Given the description of an element on the screen output the (x, y) to click on. 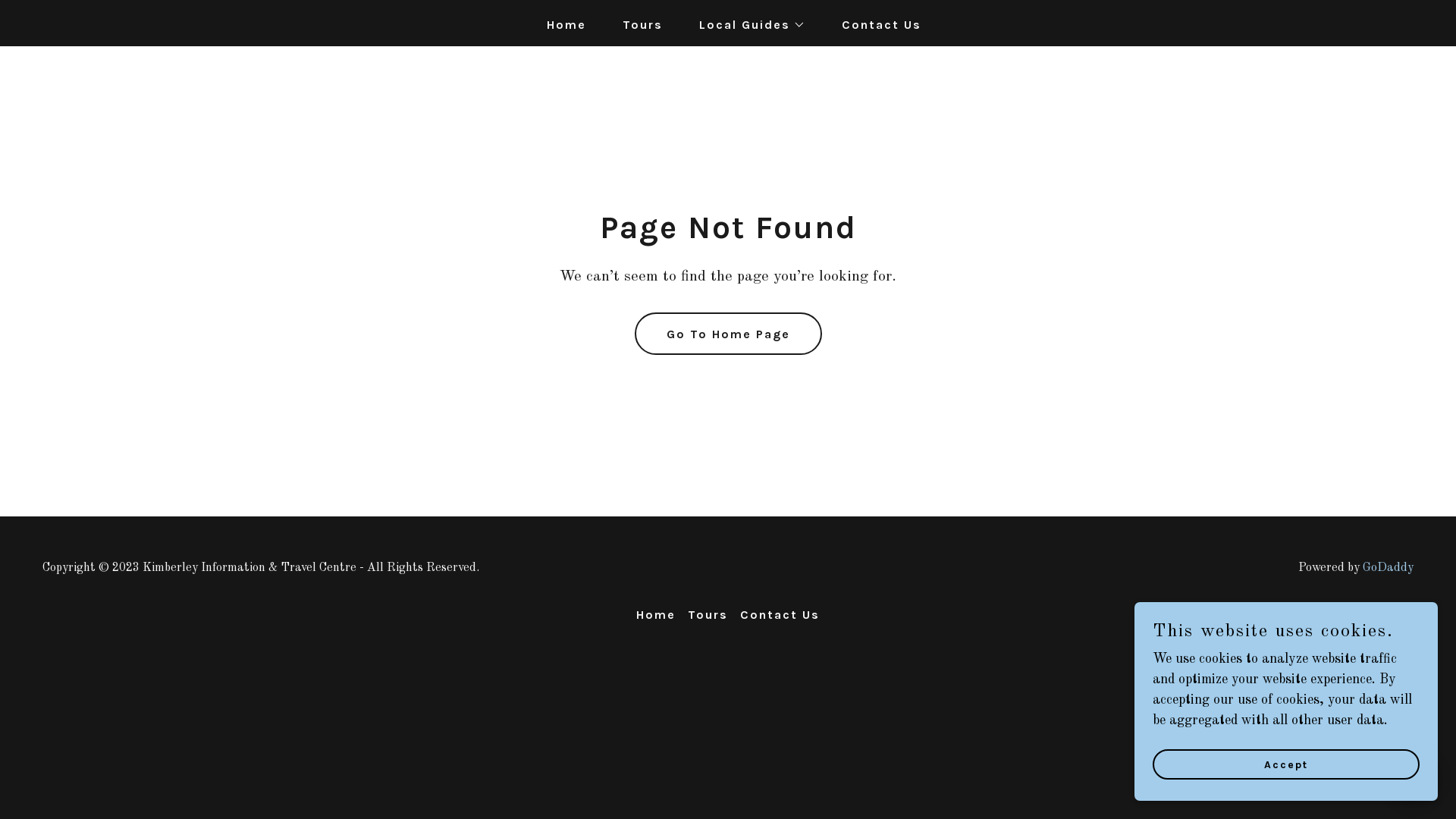
Home Element type: text (655, 614)
Go To Home Page Element type: text (727, 333)
Contact Us Element type: text (875, 24)
Accept Element type: text (1285, 764)
Home Element type: text (560, 24)
Contact Us Element type: text (779, 614)
GoDaddy Element type: text (1387, 567)
Tours Element type: text (707, 614)
Tours Element type: text (636, 24)
Local Guides Element type: text (746, 24)
